Given the description of an element on the screen output the (x, y) to click on. 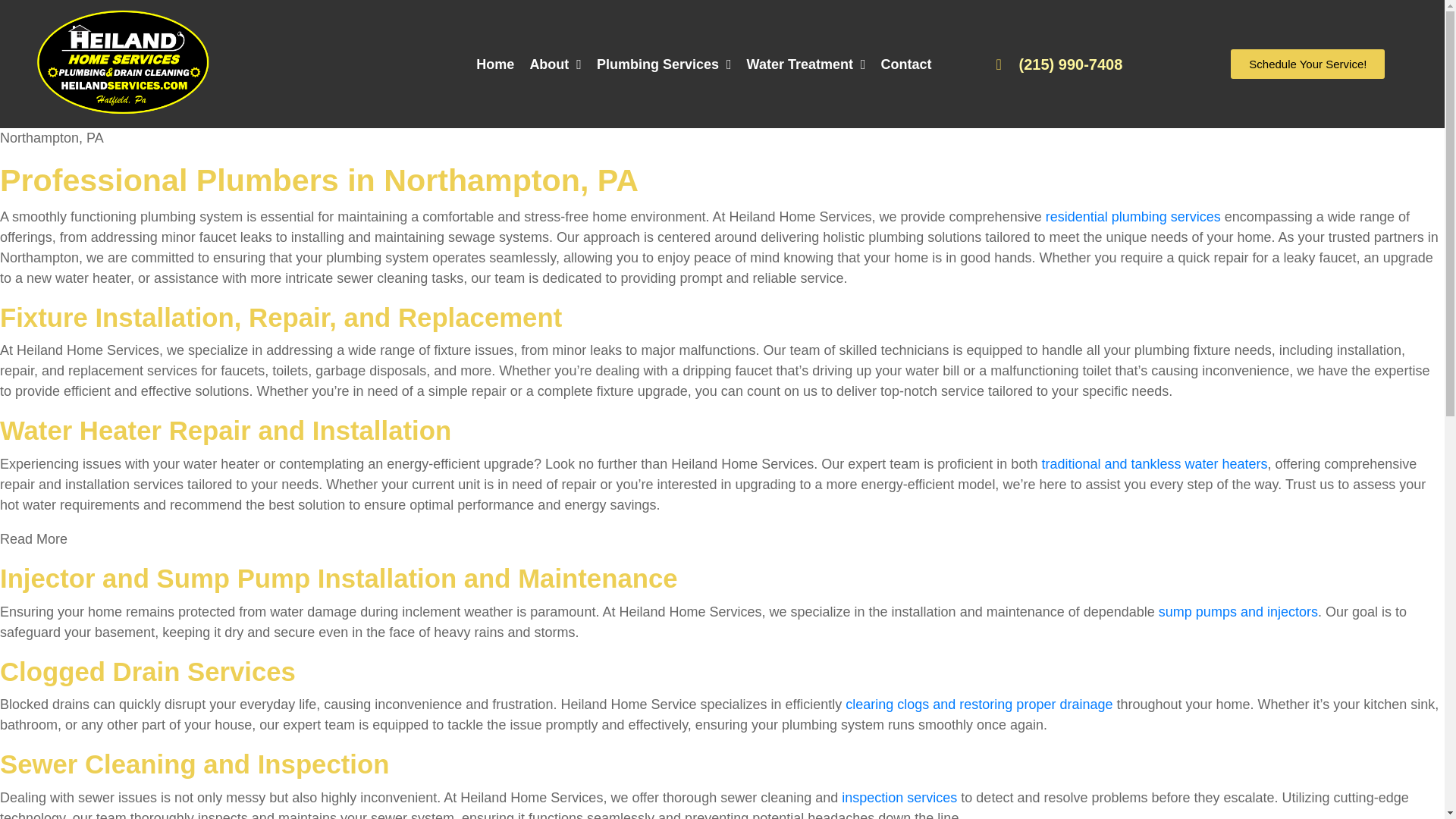
Plumbing Services (664, 63)
Home (494, 63)
Water Treatment (806, 63)
Contact (906, 63)
About (555, 63)
